Given the description of an element on the screen output the (x, y) to click on. 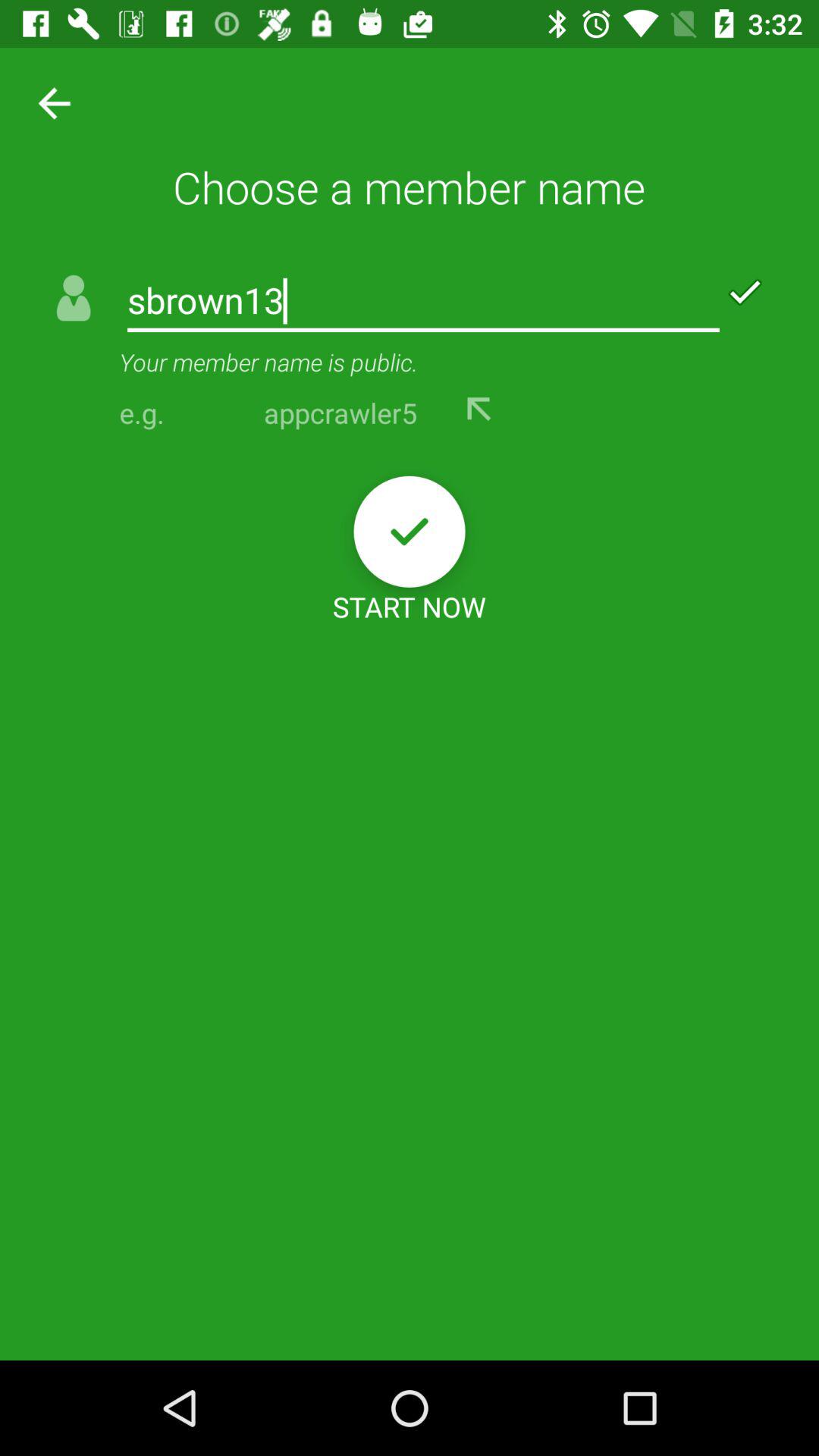
turn on the item below the choose a member (423, 301)
